Given the description of an element on the screen output the (x, y) to click on. 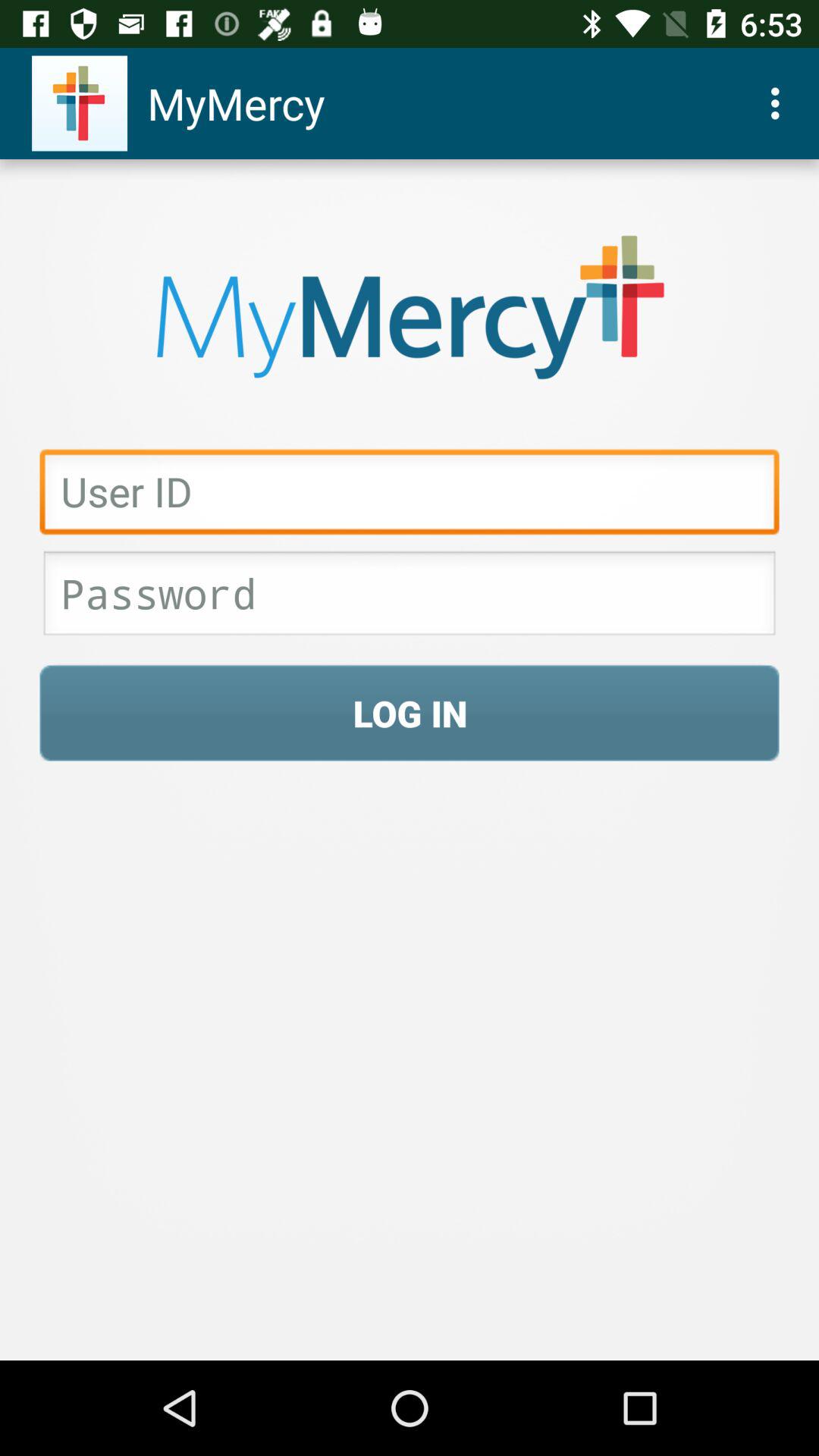
put the id (409, 495)
